Given the description of an element on the screen output the (x, y) to click on. 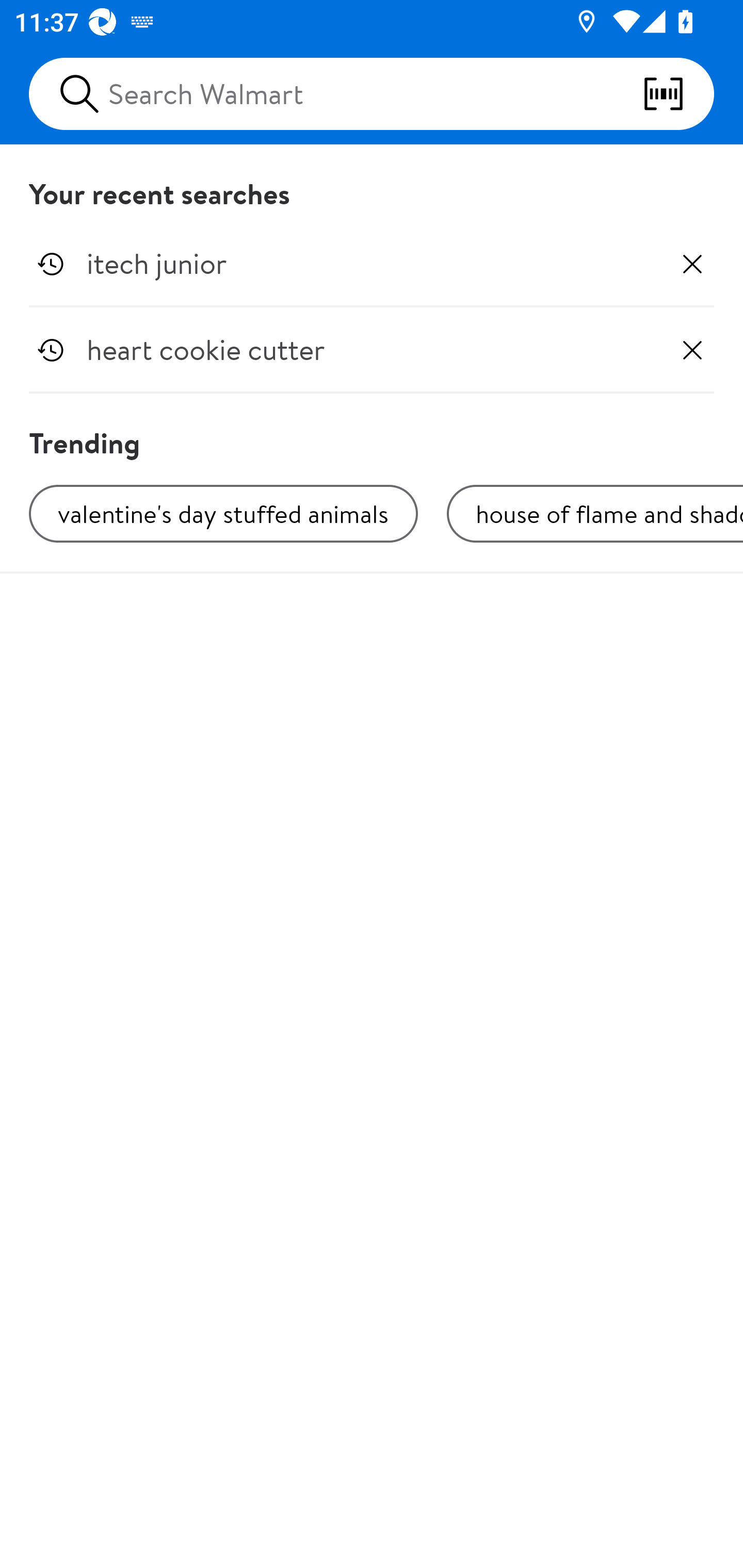
Search Walmart scan barcodes qr codes and more (371, 94)
scan barcodes qr codes and more (677, 94)
Remove recent search for itech junior (692, 264)
Remove recent search for heart cookie cutter (692, 350)
